Given the description of an element on the screen output the (x, y) to click on. 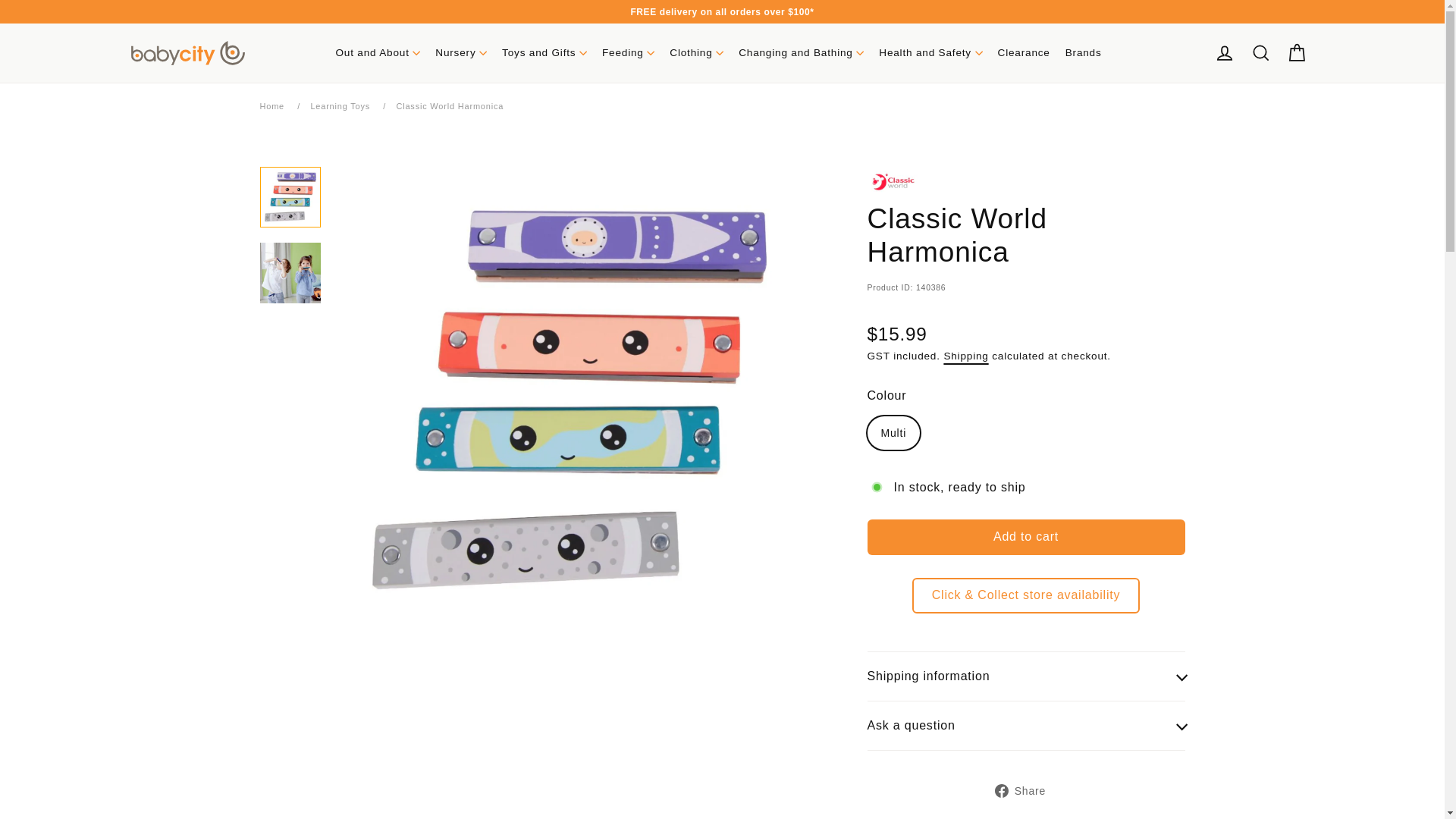
Share on Facebook (1025, 790)
Home (271, 105)
Learning Toys (339, 105)
